Given the description of an element on the screen output the (x, y) to click on. 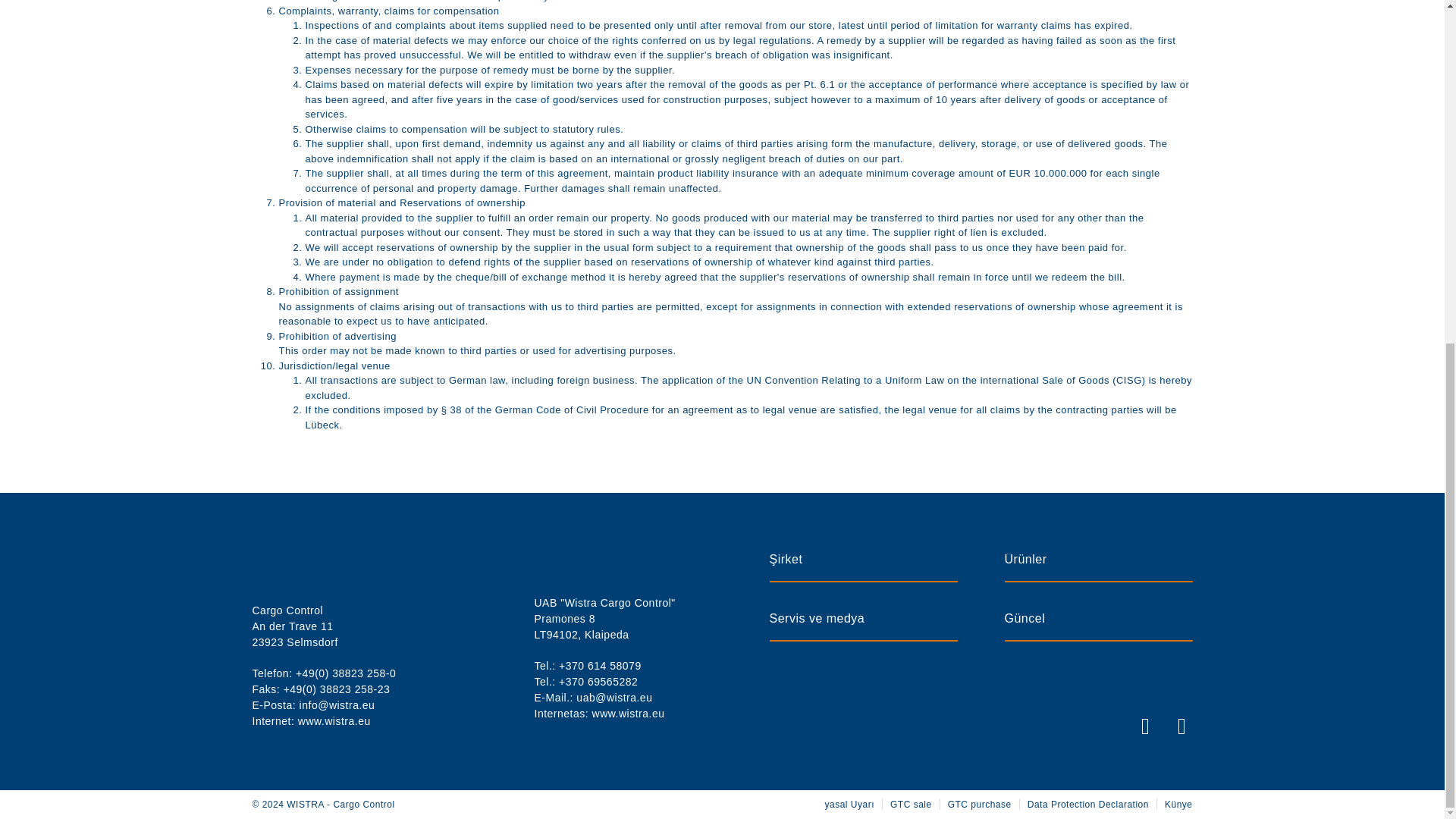
www.wistra.eu (334, 720)
Servis ve medya (862, 626)
www.wistra.eu (628, 713)
